Given the description of an element on the screen output the (x, y) to click on. 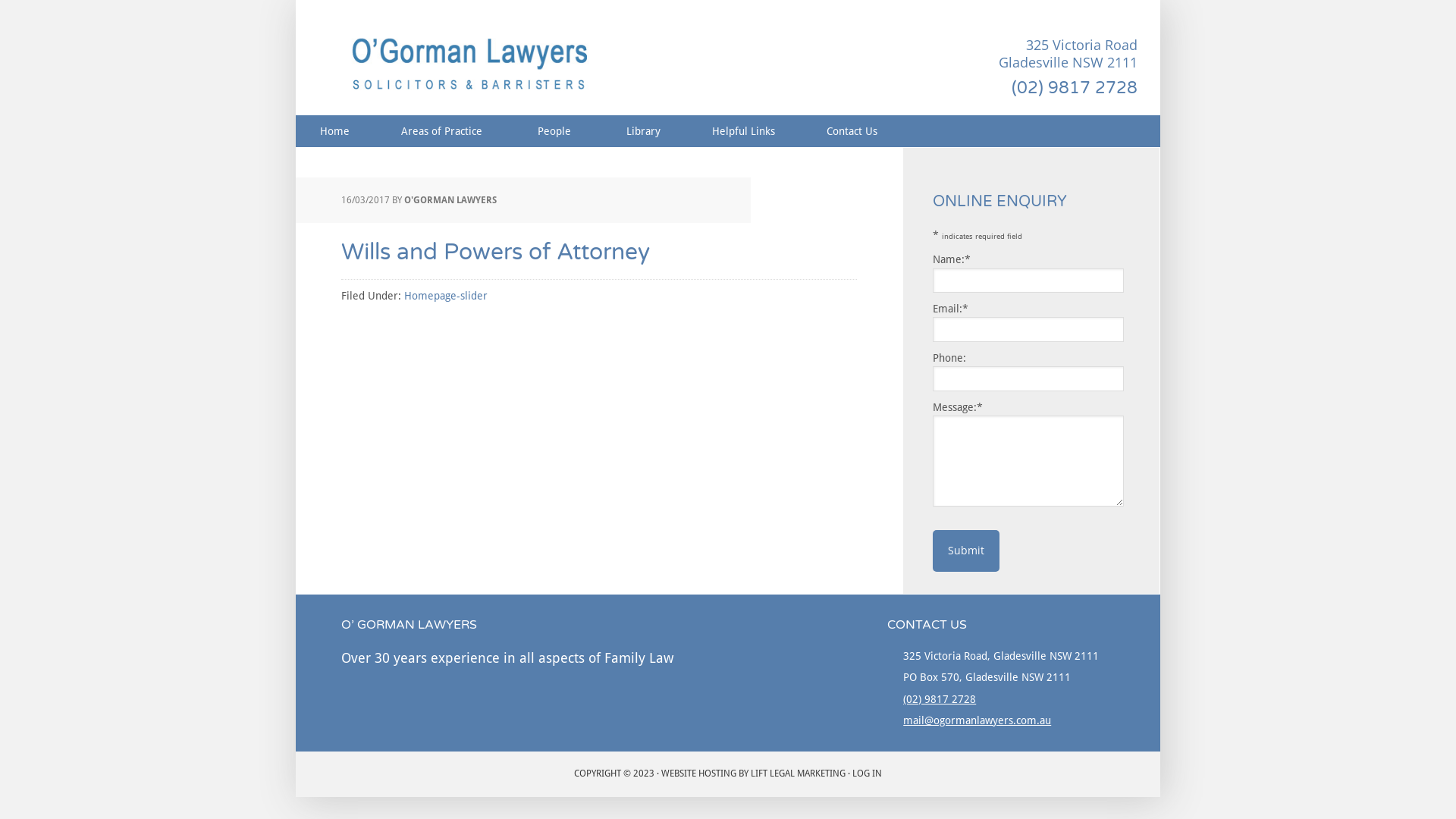
LOG IN Element type: text (866, 773)
O'GORMAN LAWYERS Element type: text (450, 199)
Skip to primary navigation Element type: text (295, 0)
Homepage-slider Element type: text (445, 295)
(02) 9817 2728 Element type: text (939, 699)
O'Gorman Lawyers Element type: hover (470, 66)
Library Element type: text (643, 131)
People Element type: text (556, 131)
Contact Us Element type: text (851, 131)
Home Element type: text (334, 131)
(02) 9817 2728 Element type: text (1074, 87)
Helpful Links Element type: text (743, 131)
Submit Element type: text (965, 550)
Areas of Practice Element type: text (443, 131)
LIFT LEGAL MARKETING Element type: text (797, 773)
mail@ogormanlawyers.com.au Element type: text (977, 720)
